Given the description of an element on the screen output the (x, y) to click on. 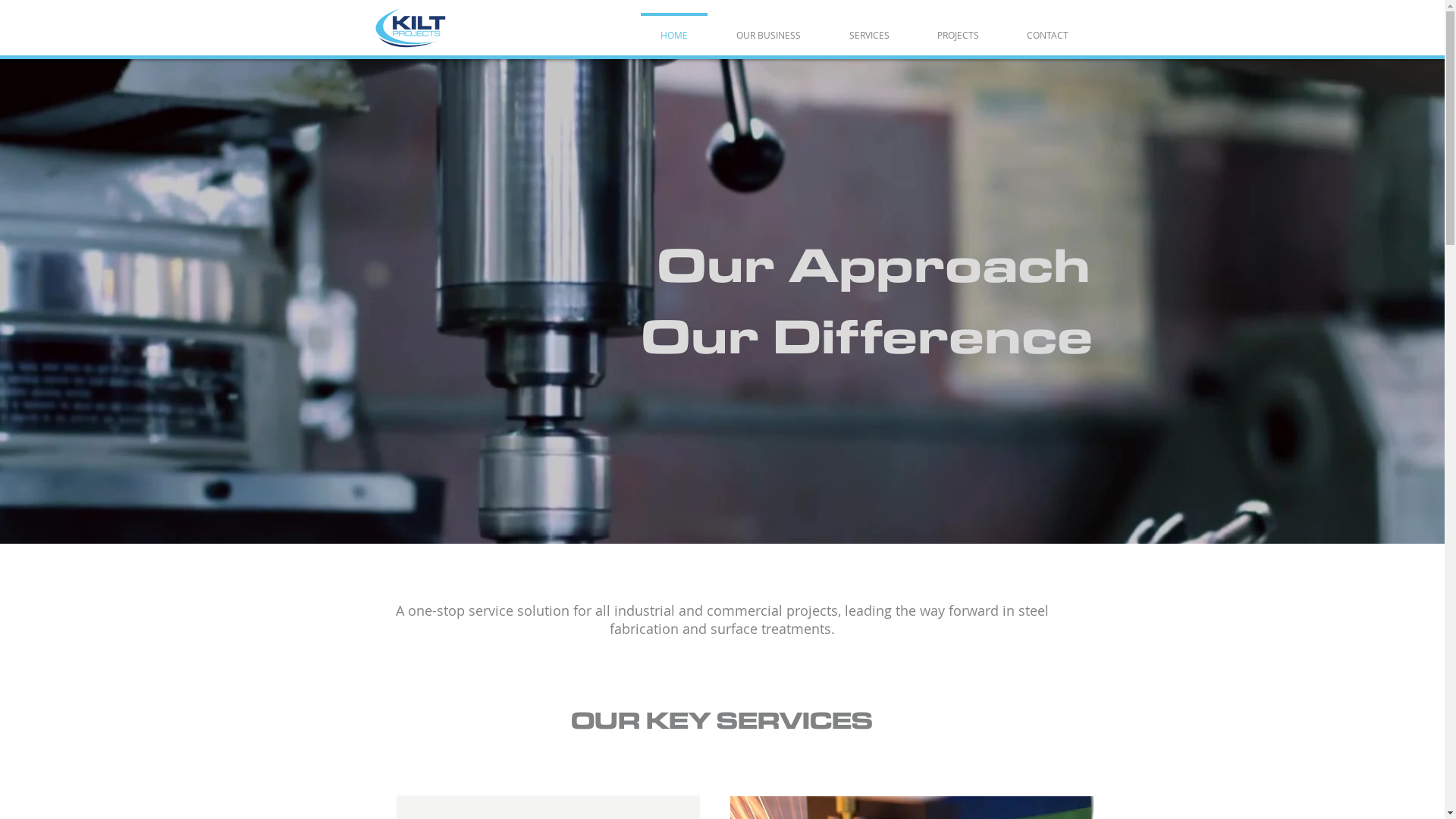
SERVICES Element type: text (869, 27)
OUR BUSINESS Element type: text (767, 27)
PROJECTS Element type: text (957, 27)
HOME Element type: text (673, 27)
CONTACT Element type: text (1047, 27)
